Given the description of an element on the screen output the (x, y) to click on. 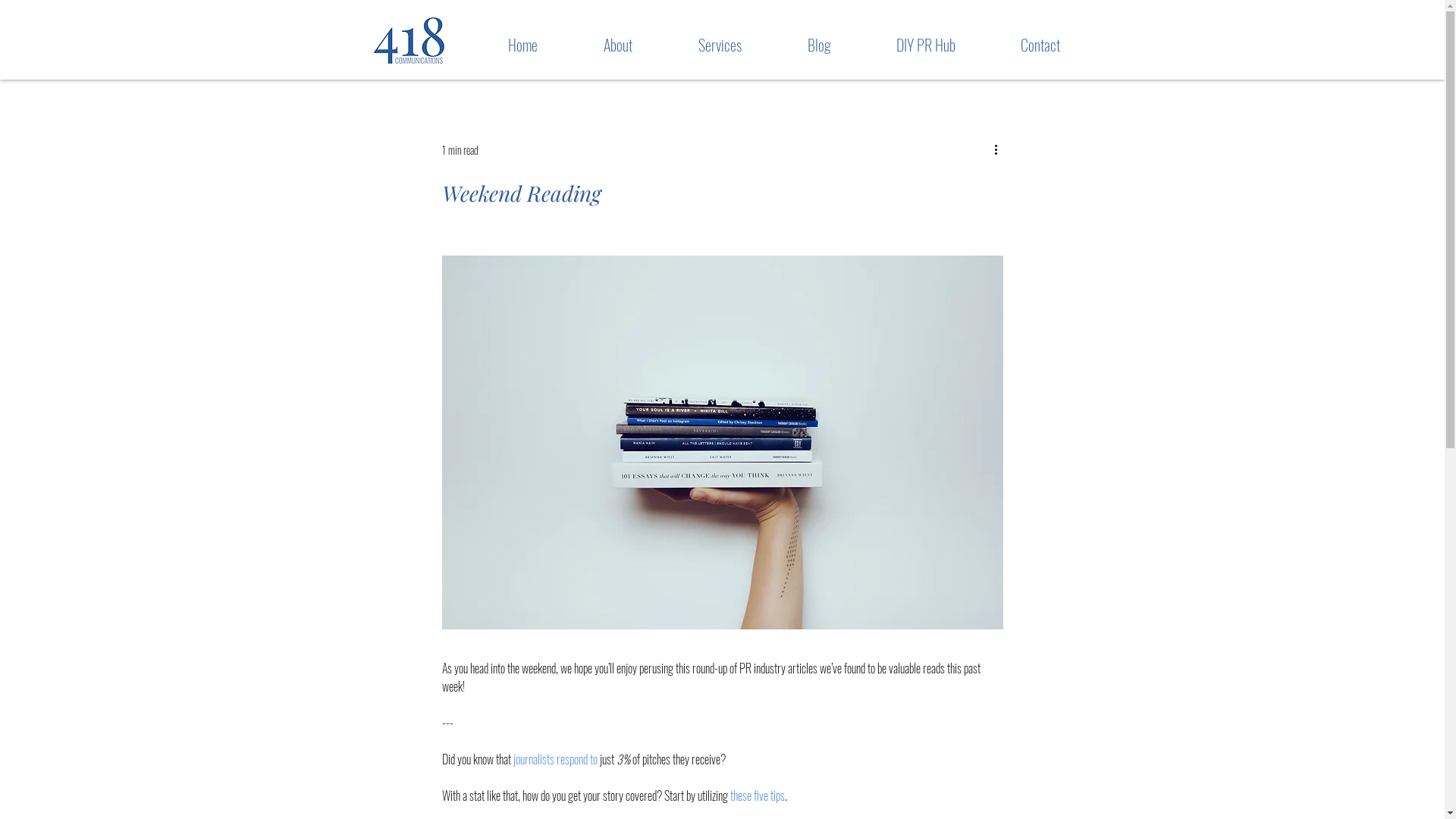
Services Element type: text (697, 44)
DIY PR Hub Element type: text (903, 44)
Blog Element type: text (796, 44)
these five tips Element type: text (756, 795)
Home Element type: text (501, 44)
journalists respond to Element type: text (554, 758)
About Element type: text (596, 44)
Contact Element type: text (1018, 44)
